Given the description of an element on the screen output the (x, y) to click on. 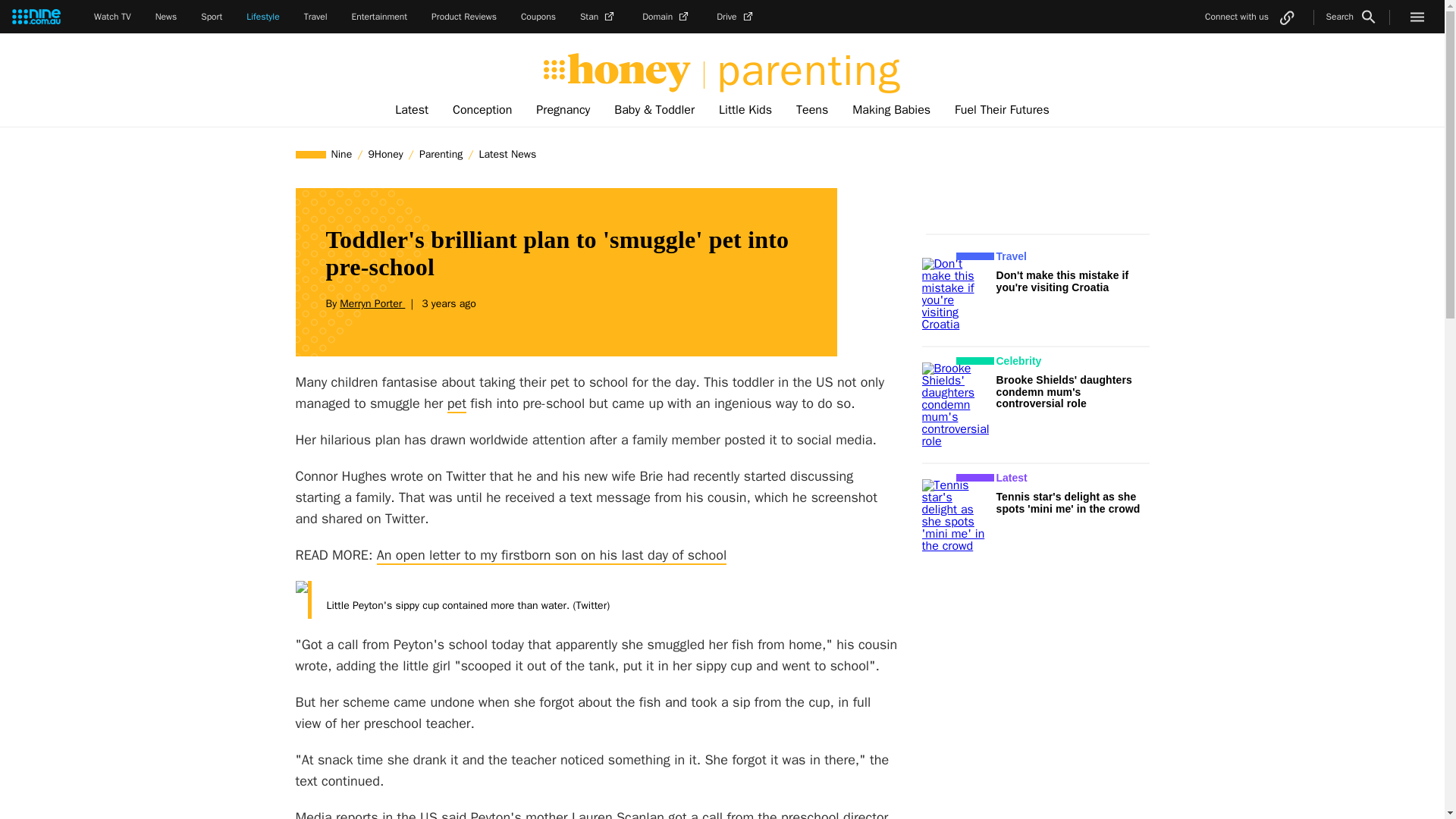
Latest (411, 109)
pet (455, 403)
Domain (667, 16)
Pregnancy (563, 109)
Drive (735, 16)
Conception (482, 109)
Lifestyle (262, 16)
Making Babies (891, 109)
Entertainment (379, 16)
Nine (342, 154)
